Given the description of an element on the screen output the (x, y) to click on. 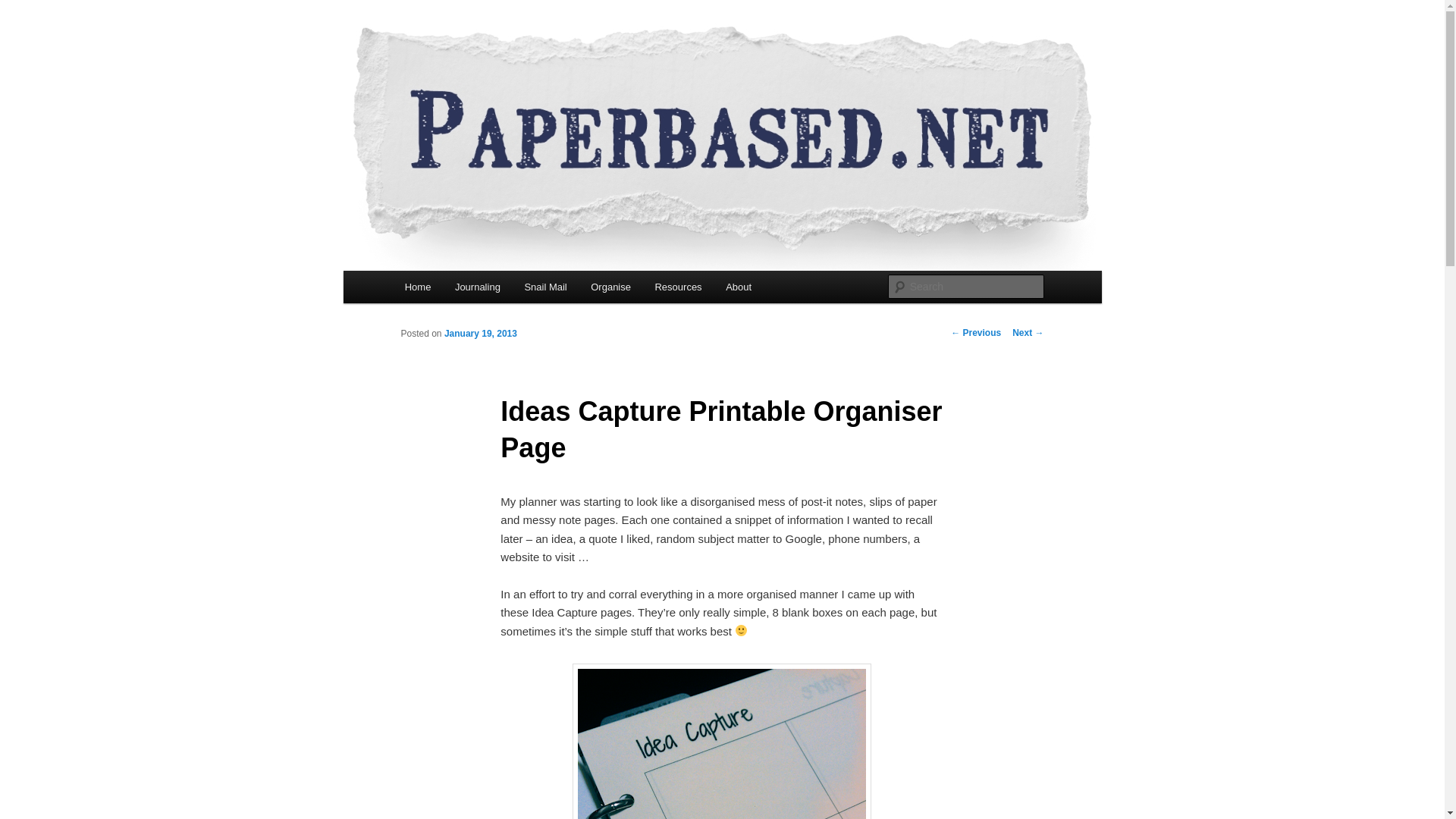
January 19, 2013 (480, 333)
Journaling (477, 287)
Organise (610, 287)
Skip to primary content (472, 289)
Paperbased.net (484, 77)
Skip to secondary content (479, 289)
Home (417, 287)
9:51 pm (480, 333)
Paperbased.net (484, 77)
Search (24, 8)
Skip to secondary content (479, 289)
Snail Mail (545, 287)
About (737, 287)
Resources (678, 287)
Skip to primary content (472, 289)
